Given the description of an element on the screen output the (x, y) to click on. 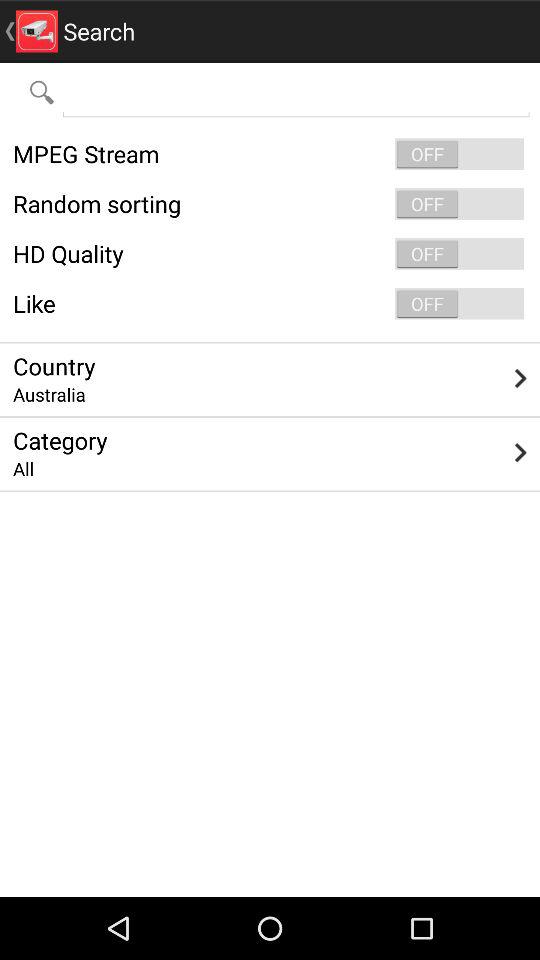
scroll until the like item (269, 303)
